Given the description of an element on the screen output the (x, y) to click on. 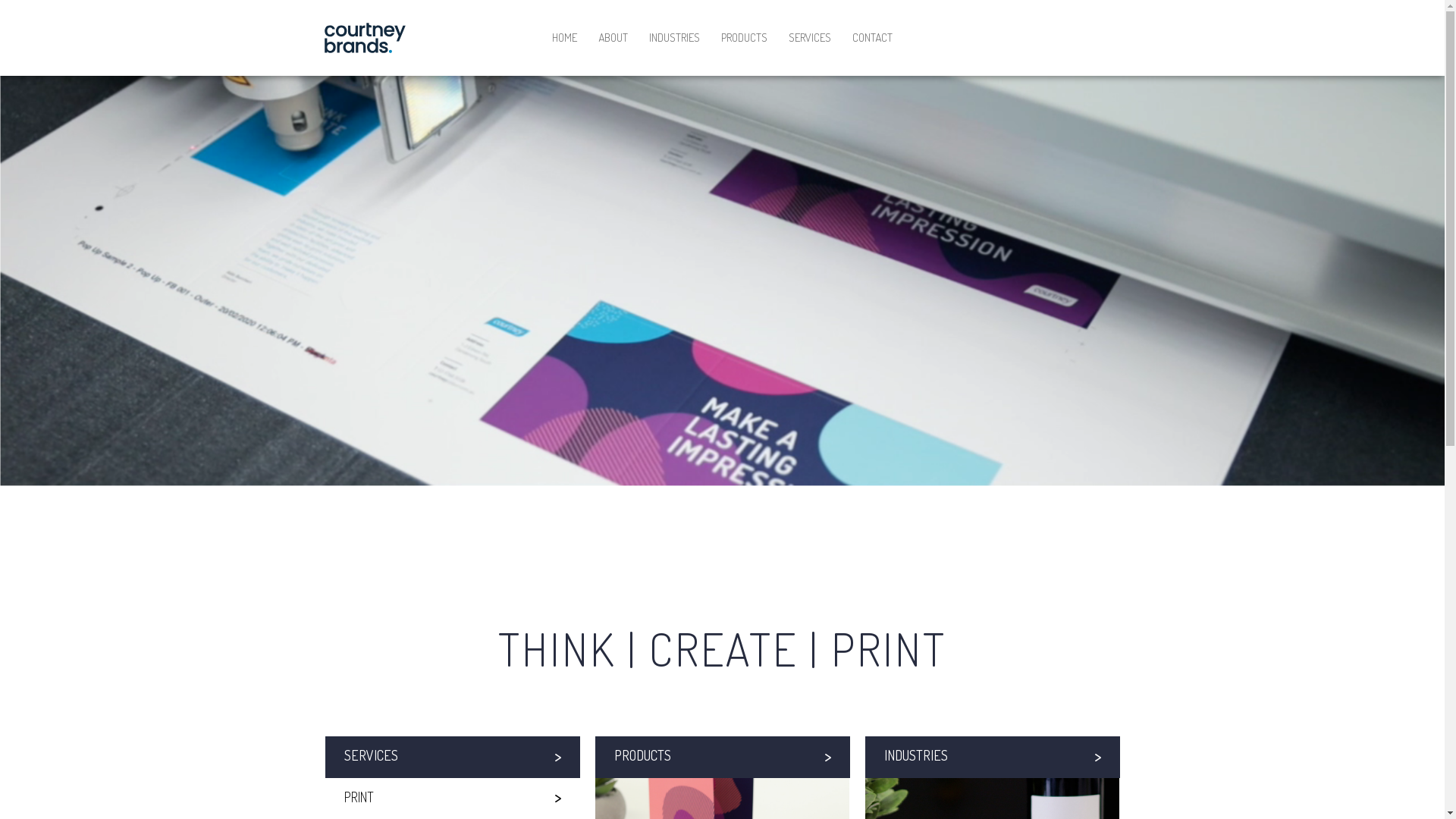
INDUSTRIES Element type: text (991, 757)
HOME Element type: text (564, 37)
CONTACT Element type: text (872, 37)
SERVICES Element type: text (809, 37)
PRODUCTS Element type: text (744, 37)
ABOUT Element type: text (612, 37)
PRODUCTS Element type: text (721, 757)
SERVICES Element type: text (451, 756)
INDUSTRIES Element type: text (674, 37)
